Given the description of an element on the screen output the (x, y) to click on. 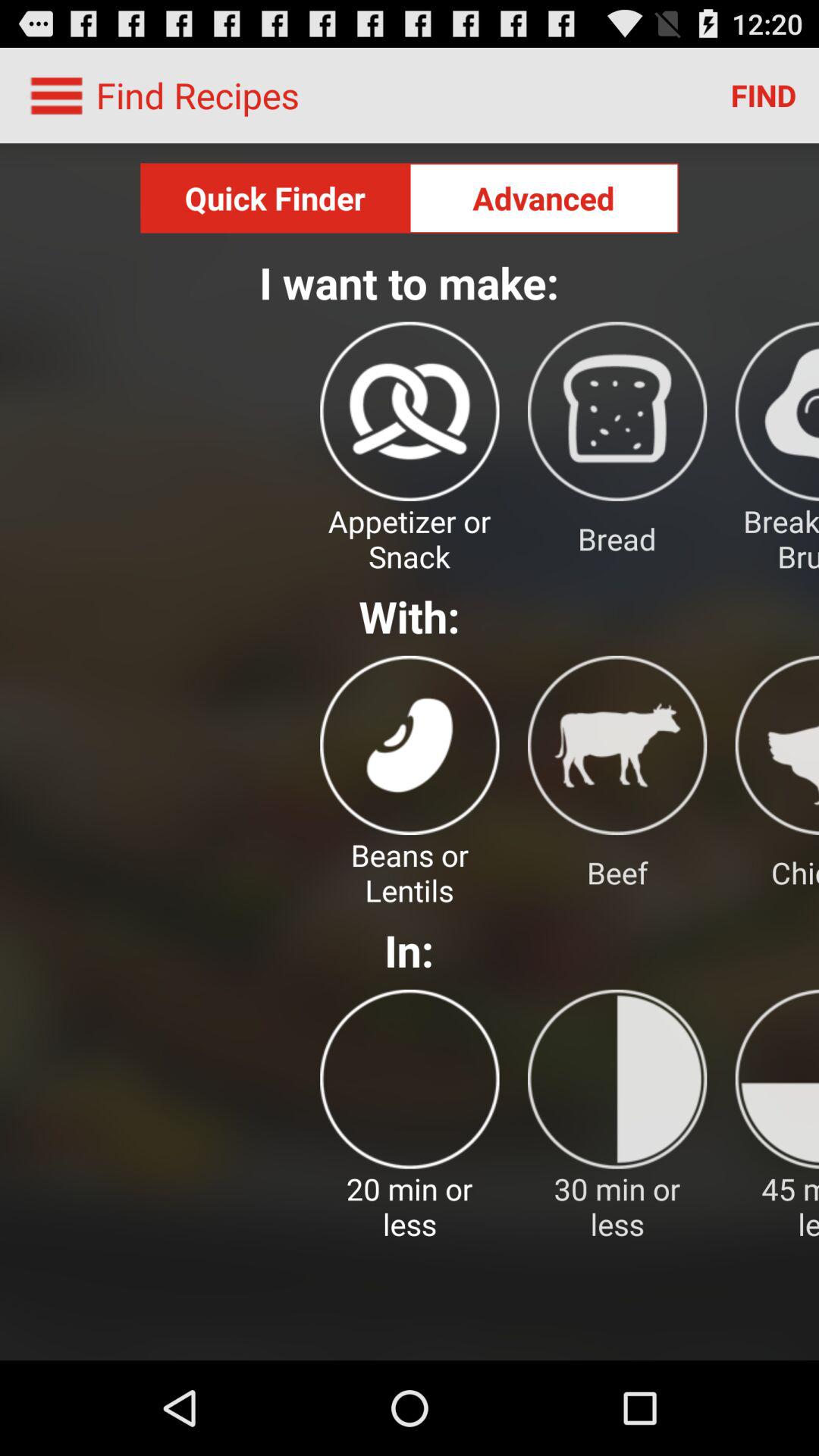
swipe to the quick finder button (274, 198)
